Given the description of an element on the screen output the (x, y) to click on. 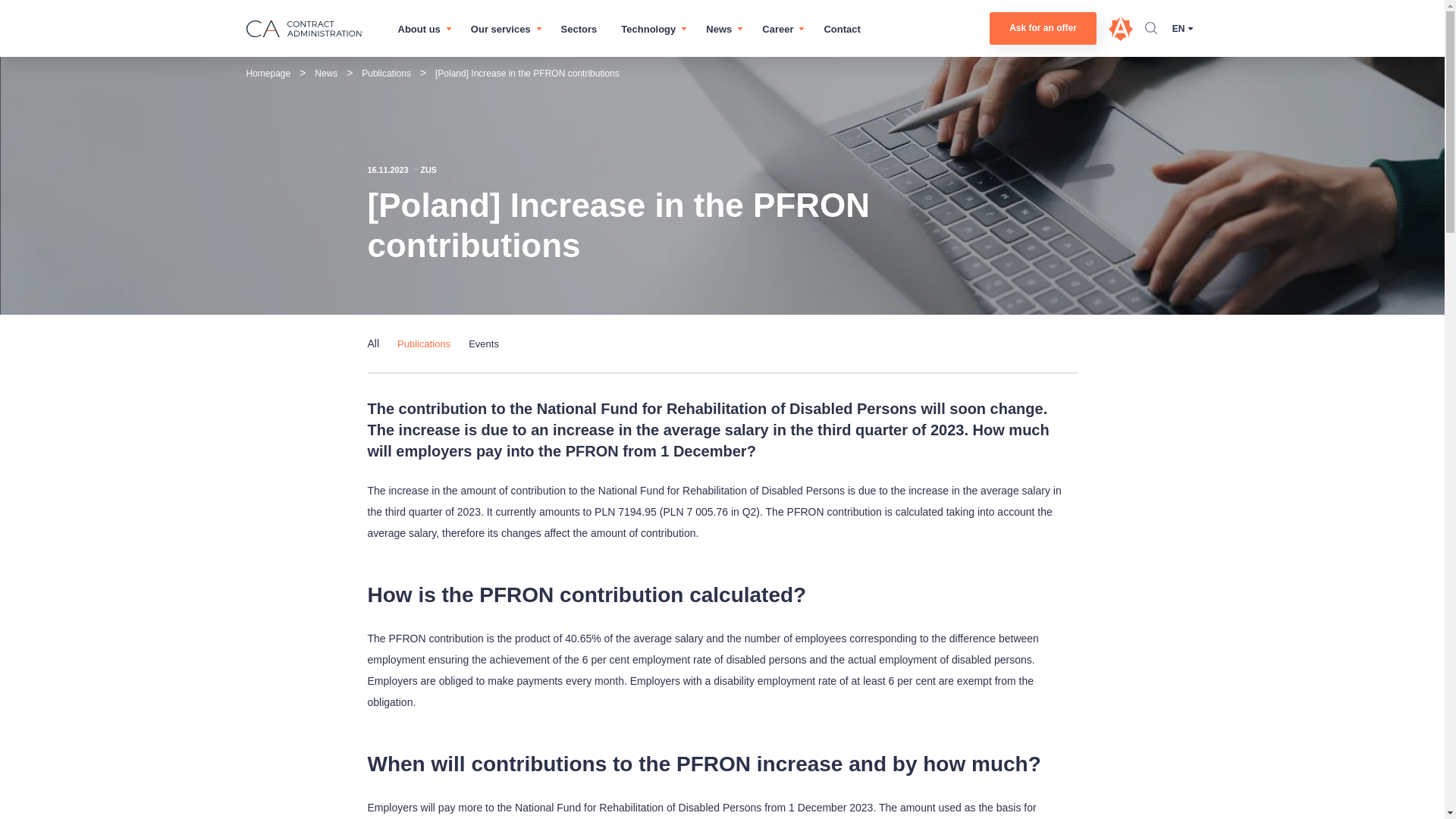
Ask for an offer (1043, 28)
Technology (648, 28)
Sectors (578, 28)
Career (777, 28)
Our services (500, 28)
News (719, 28)
Contact (842, 28)
About us (418, 28)
